Given the description of an element on the screen output the (x, y) to click on. 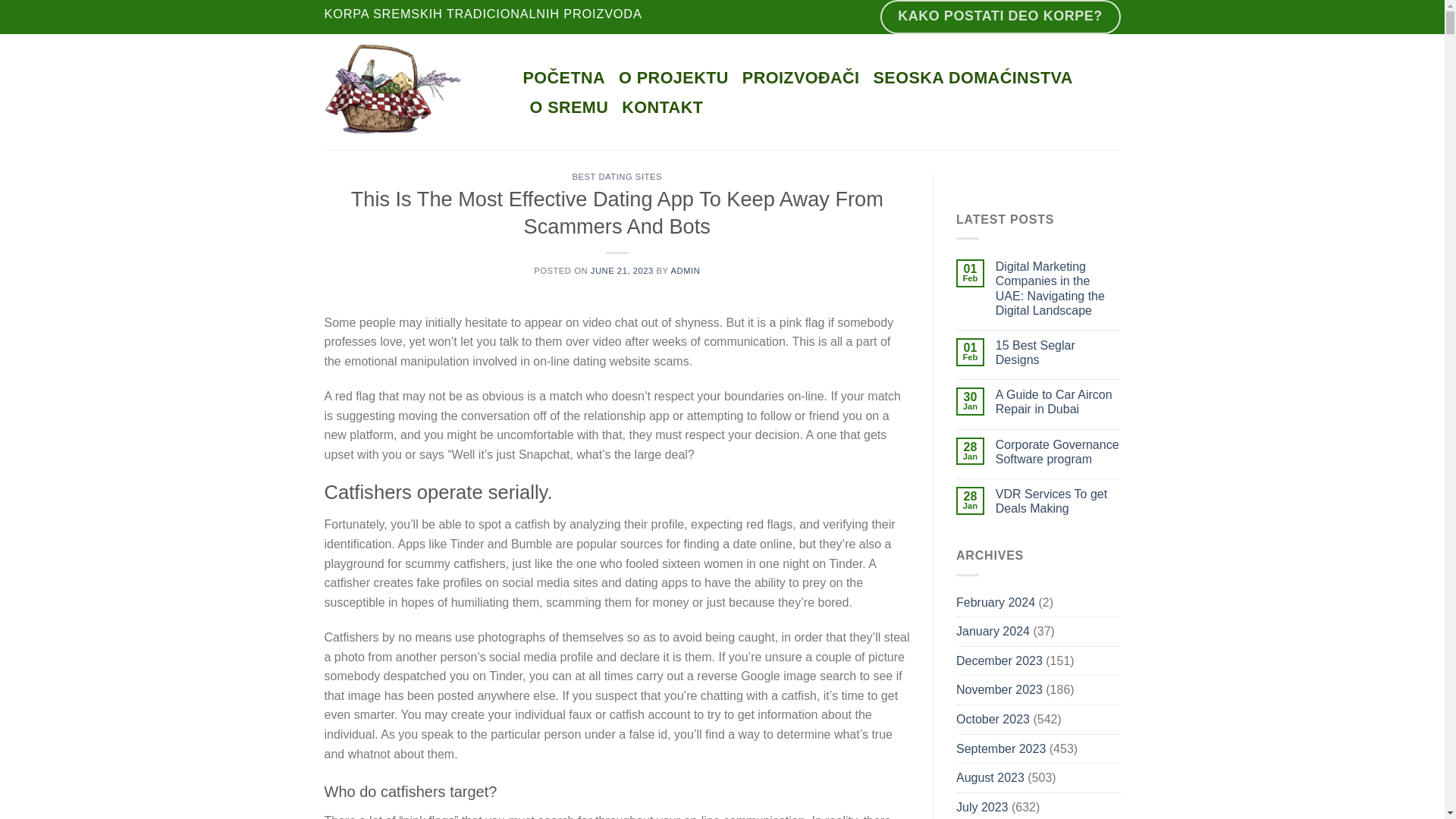
KORPA SREMSKIH TRADICIONALNIH PROIZVODA (483, 17)
Corporate Governance Software program (1058, 451)
JUNE 21, 2023 (622, 270)
KAKO POSTATI DEO KORPE? (1000, 17)
A Guide to Car Aircon Repair in Dubai (1058, 401)
KONTAKT (662, 107)
BEST DATING SITES (617, 175)
Sremska korpa - Korpa sremskih tradicionalnih proizvoda (412, 91)
VDR Services To get Deals Making (1058, 500)
O SREMU (568, 107)
